Given the description of an element on the screen output the (x, y) to click on. 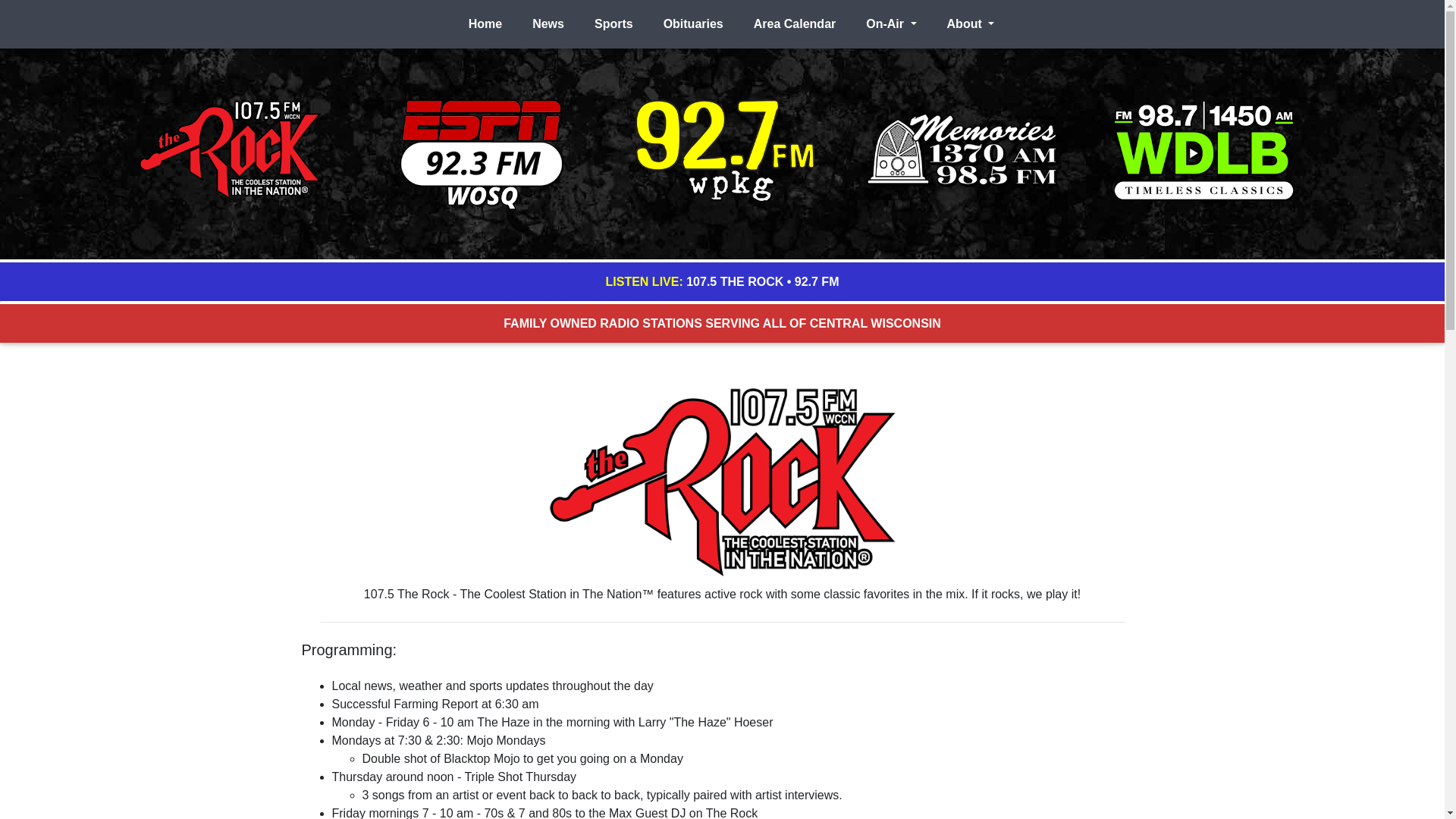
About Element type: text (971, 24)
News Element type: text (548, 24)
Obituaries Element type: text (693, 24)
Home Element type: text (485, 24)
Sports Element type: text (613, 24)
107.5 THE ROCK Element type: text (734, 280)
On-Air Element type: text (890, 24)
92.7 FM Element type: text (816, 280)
Area Calendar Element type: text (794, 24)
